Given the description of an element on the screen output the (x, y) to click on. 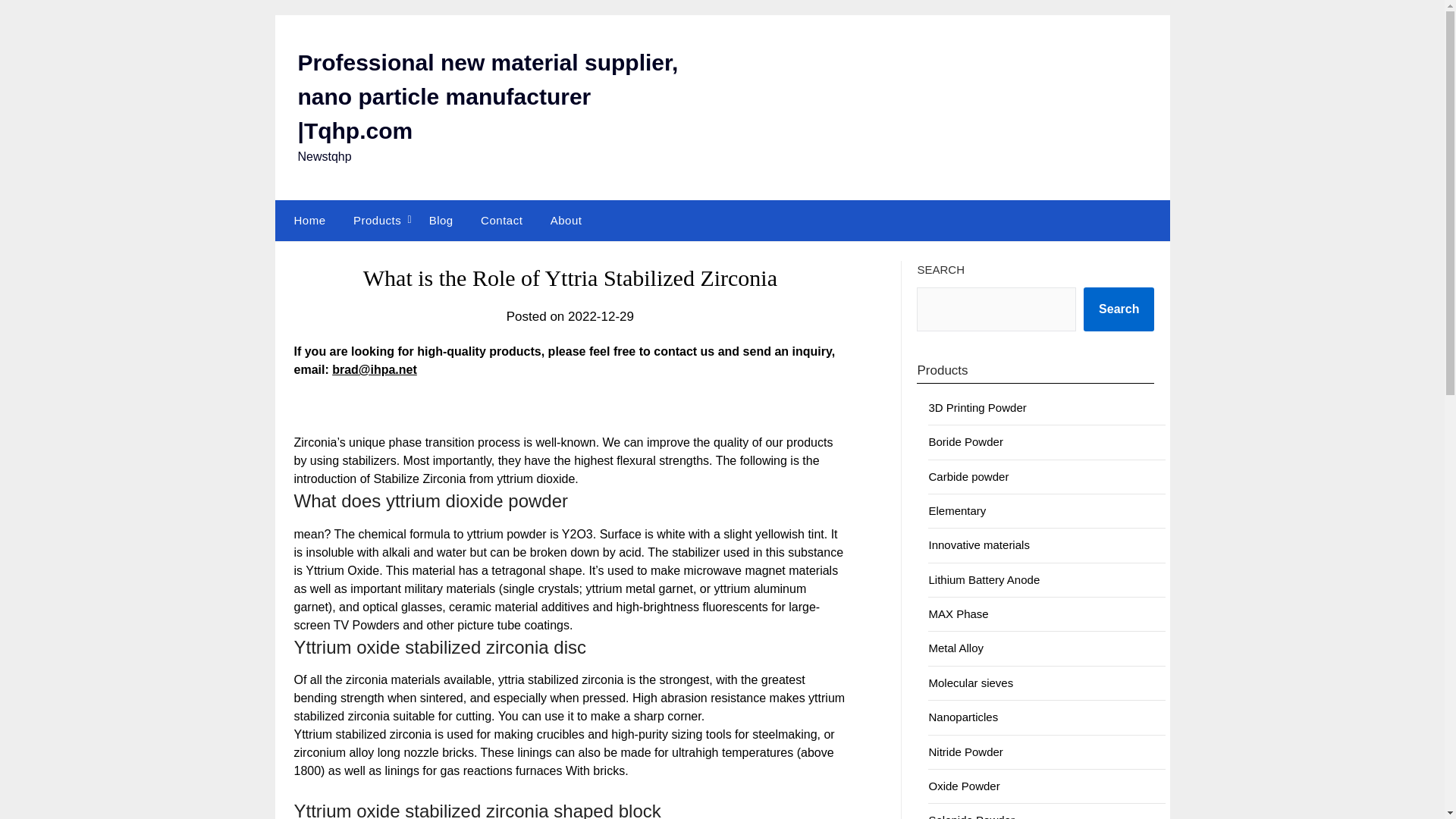
Search (1118, 309)
Molecular sieves (970, 682)
Nanoparticles (962, 716)
Nitride Powder (965, 751)
Elementary (956, 510)
Boride Powder (965, 440)
Carbide powder (968, 476)
Metal Alloy (956, 647)
Blog (440, 219)
Contact (501, 219)
